Given the description of an element on the screen output the (x, y) to click on. 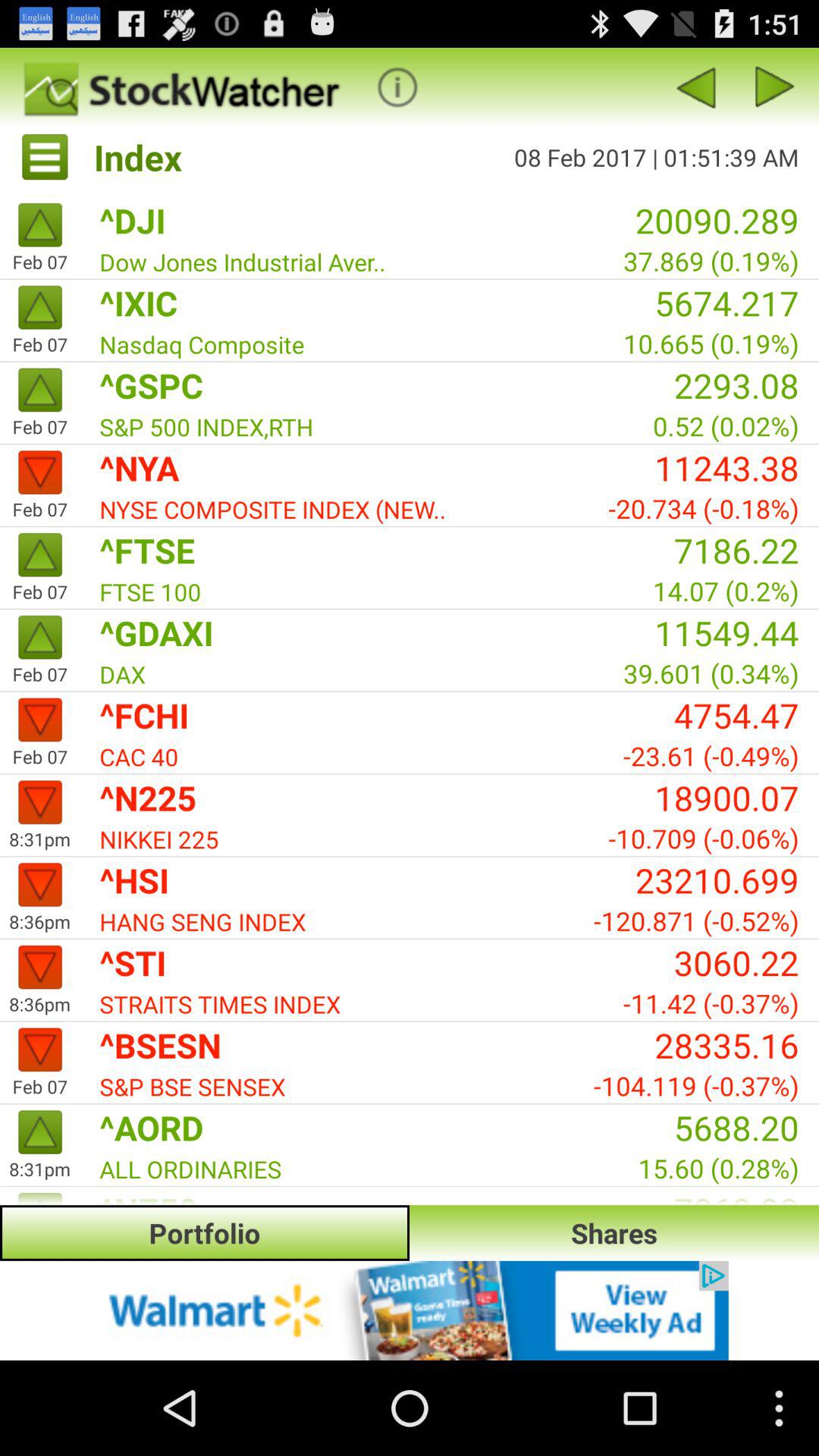
menu page (775, 87)
